Given the description of an element on the screen output the (x, y) to click on. 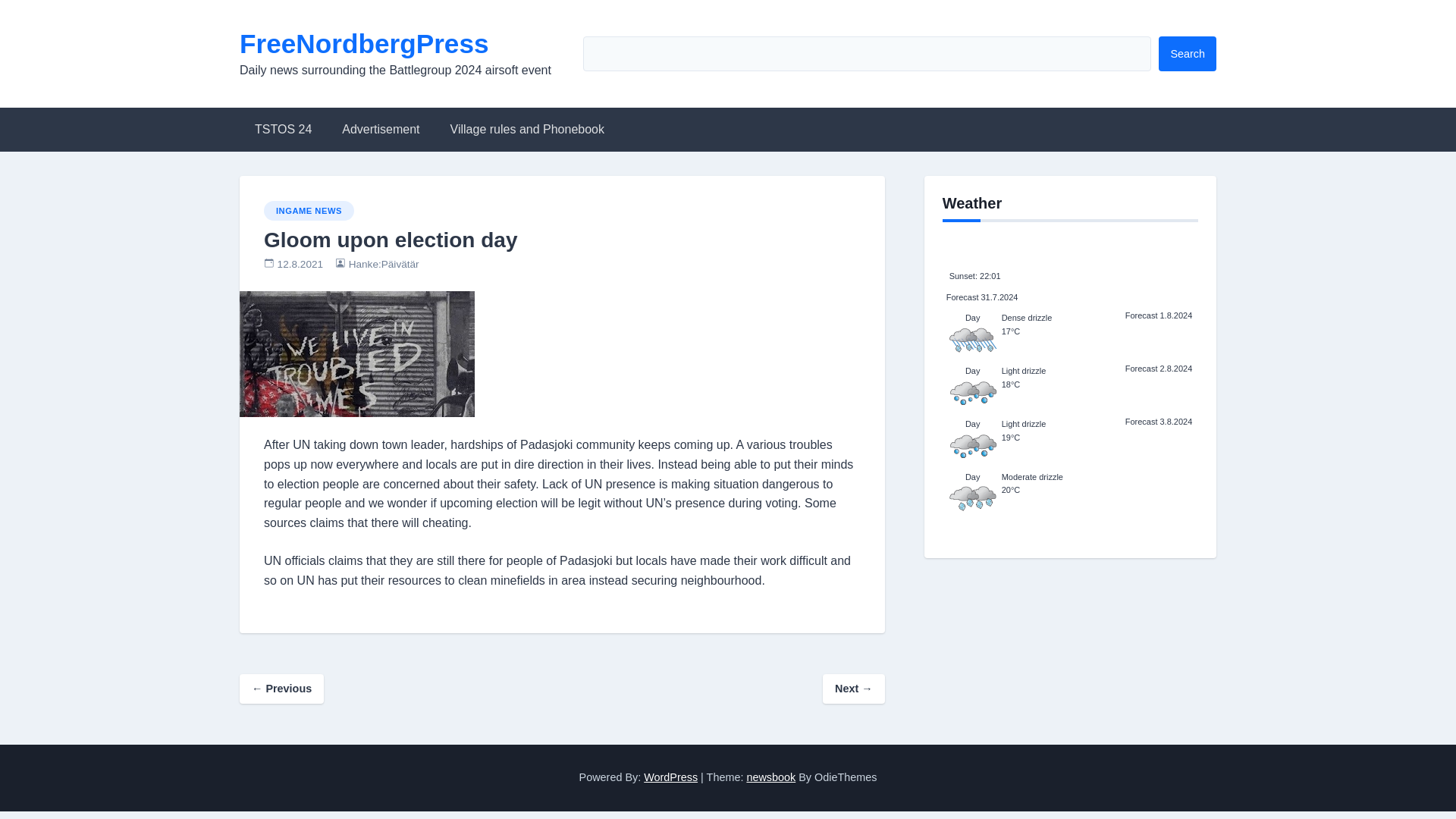
TSTOS 24 (283, 129)
FreeNordbergPress (364, 43)
Advertisement (379, 129)
newsbook (769, 776)
Search (1186, 53)
WordPress (670, 776)
12.8.2021 (300, 264)
INGAME NEWS (308, 210)
Village rules and Phonebook (527, 129)
